Given the description of an element on the screen output the (x, y) to click on. 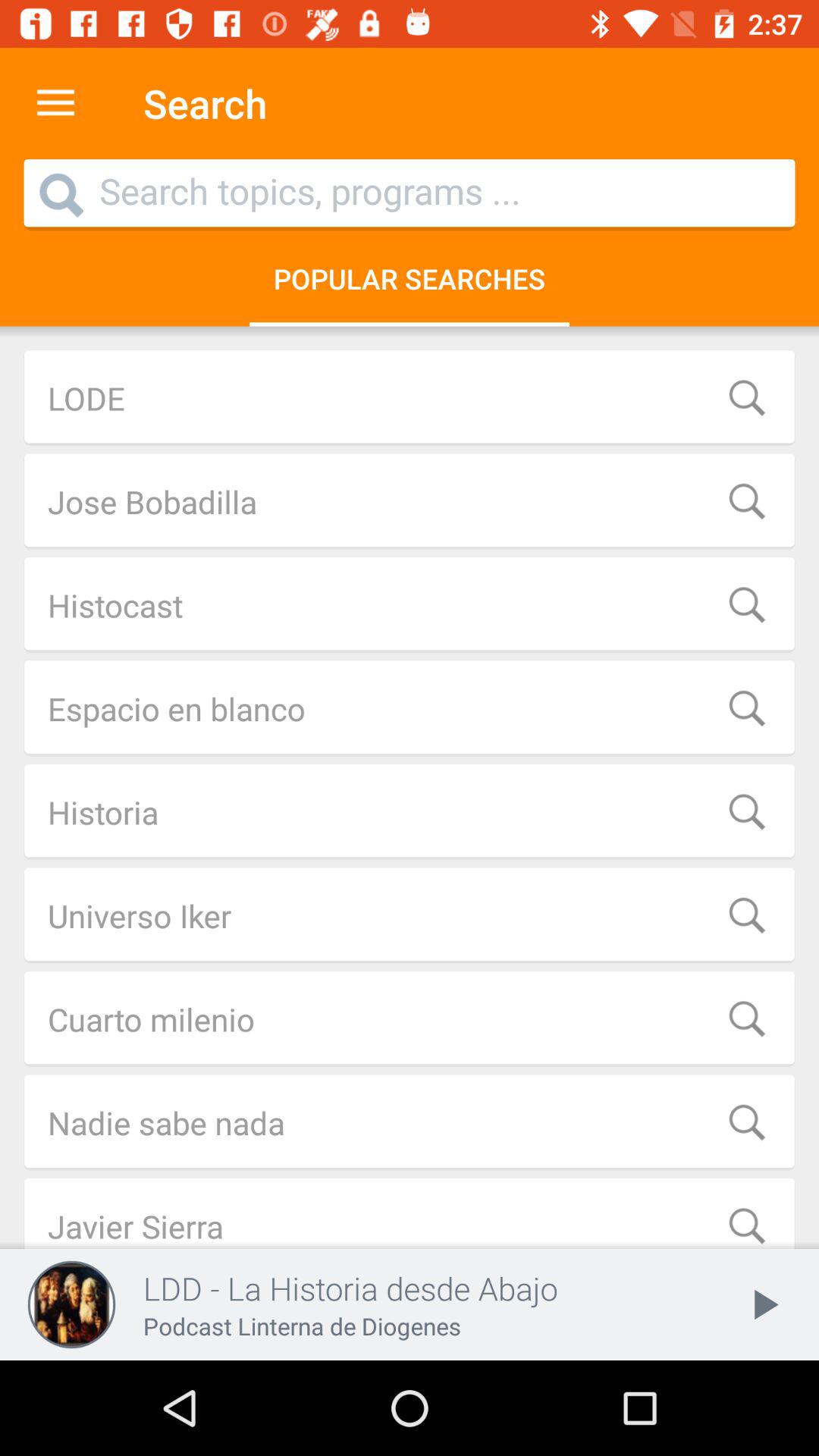
open item above the espacio en blanco icon (409, 604)
